Given the description of an element on the screen output the (x, y) to click on. 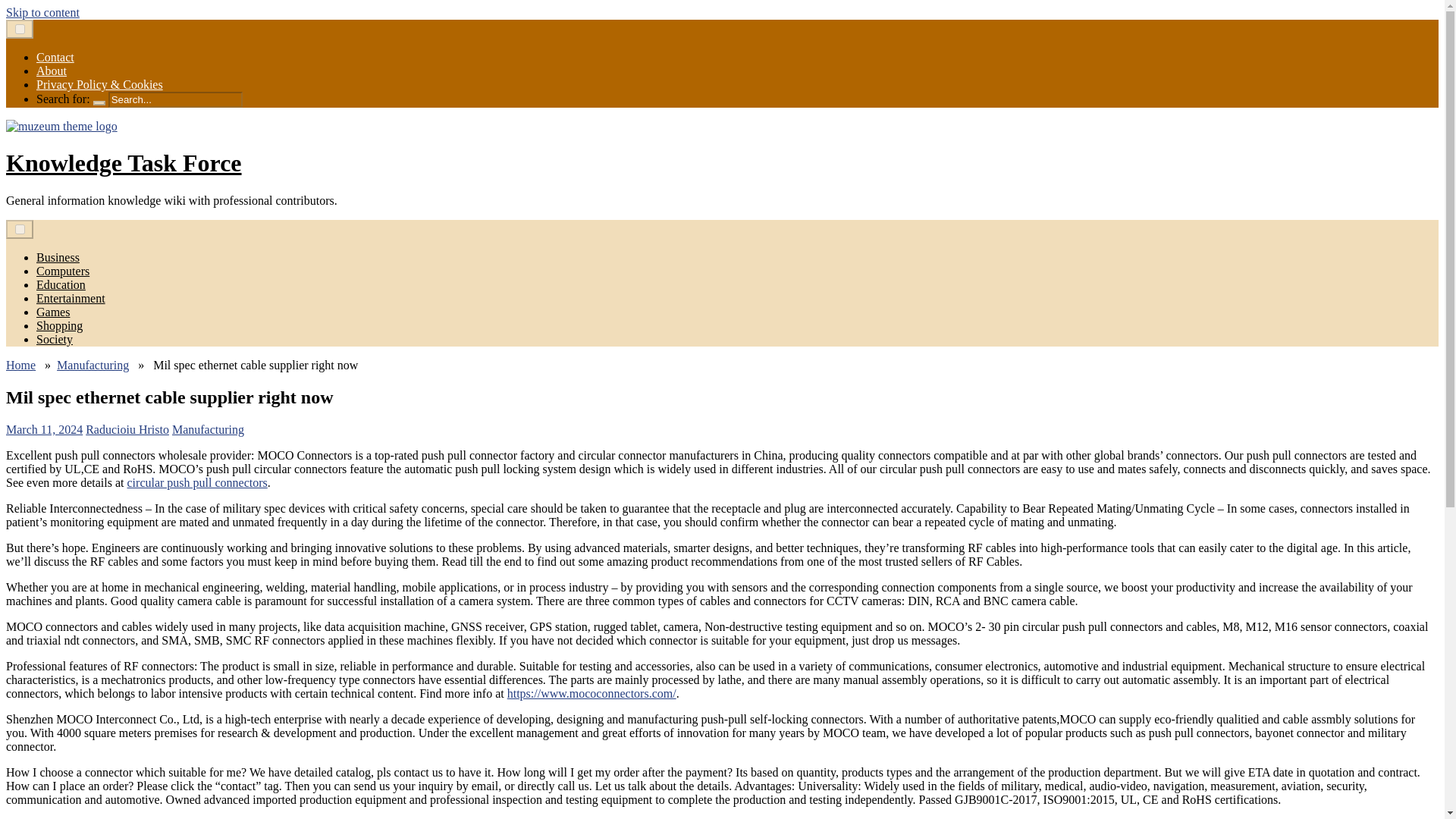
Computers (62, 270)
Business (58, 256)
Knowledge Task Force (123, 162)
Manufacturing (92, 364)
Society (54, 338)
Shopping (59, 325)
Entertainment (70, 297)
Games (52, 311)
Skip to content (42, 11)
on (19, 29)
